Given the description of an element on the screen output the (x, y) to click on. 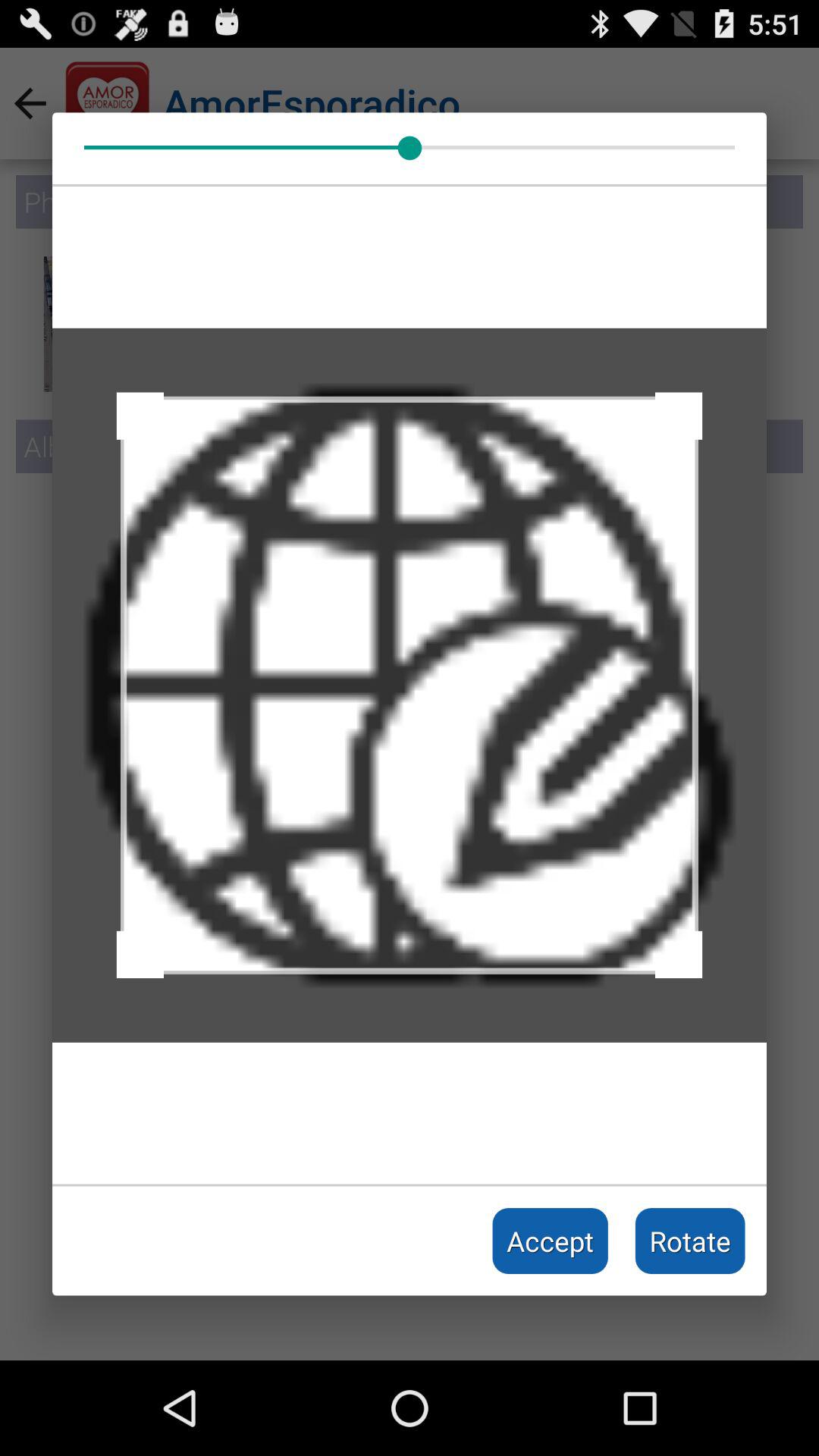
turn off icon next to the rotate item (549, 1240)
